Given the description of an element on the screen output the (x, y) to click on. 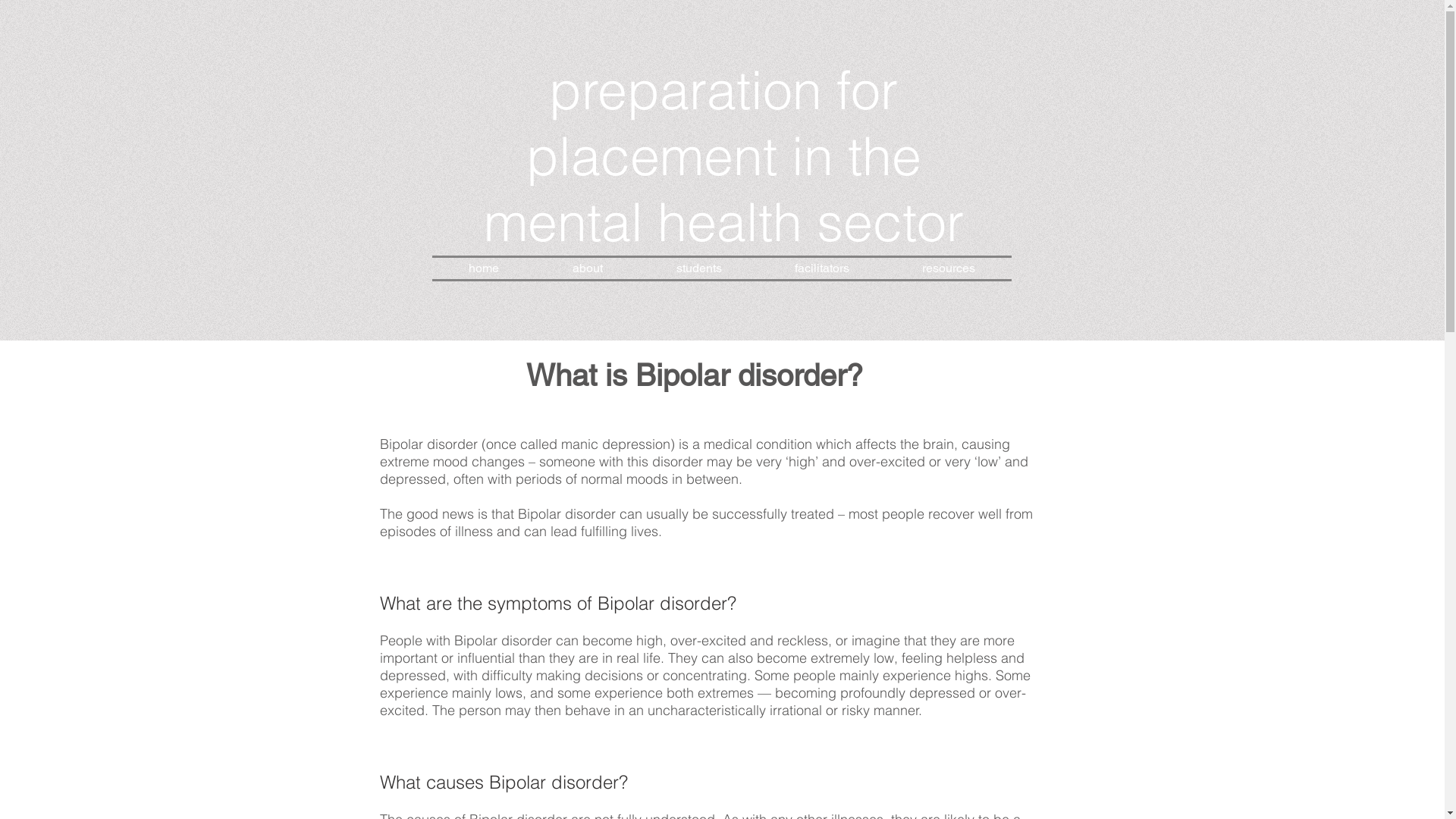
home Element type: text (484, 268)
resources Element type: text (948, 268)
about Element type: text (587, 268)
facilitators Element type: text (821, 268)
students Element type: text (699, 268)
